Given the description of an element on the screen output the (x, y) to click on. 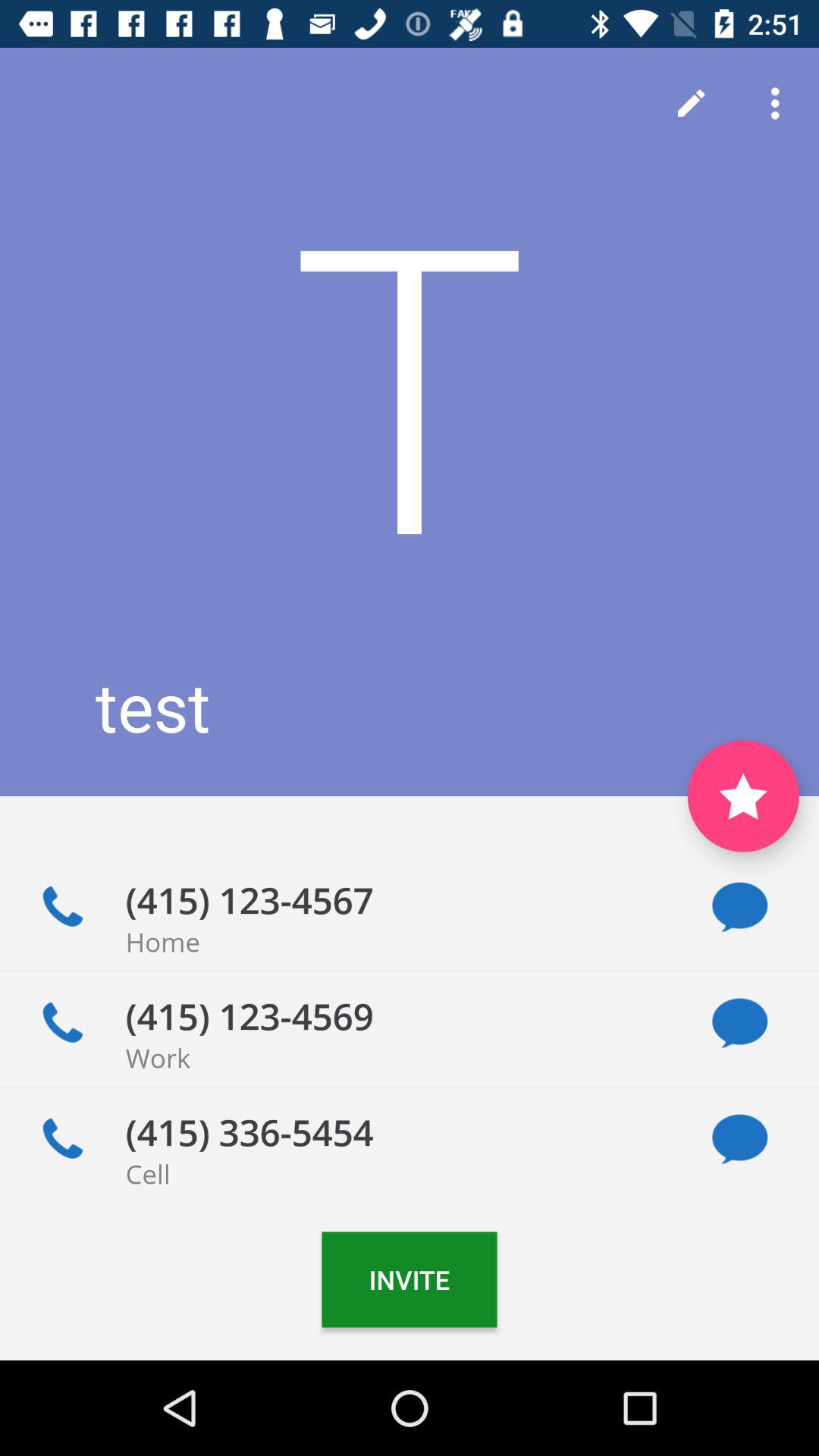
select the first phone icon under the test (62, 907)
